Given the description of an element on the screen output the (x, y) to click on. 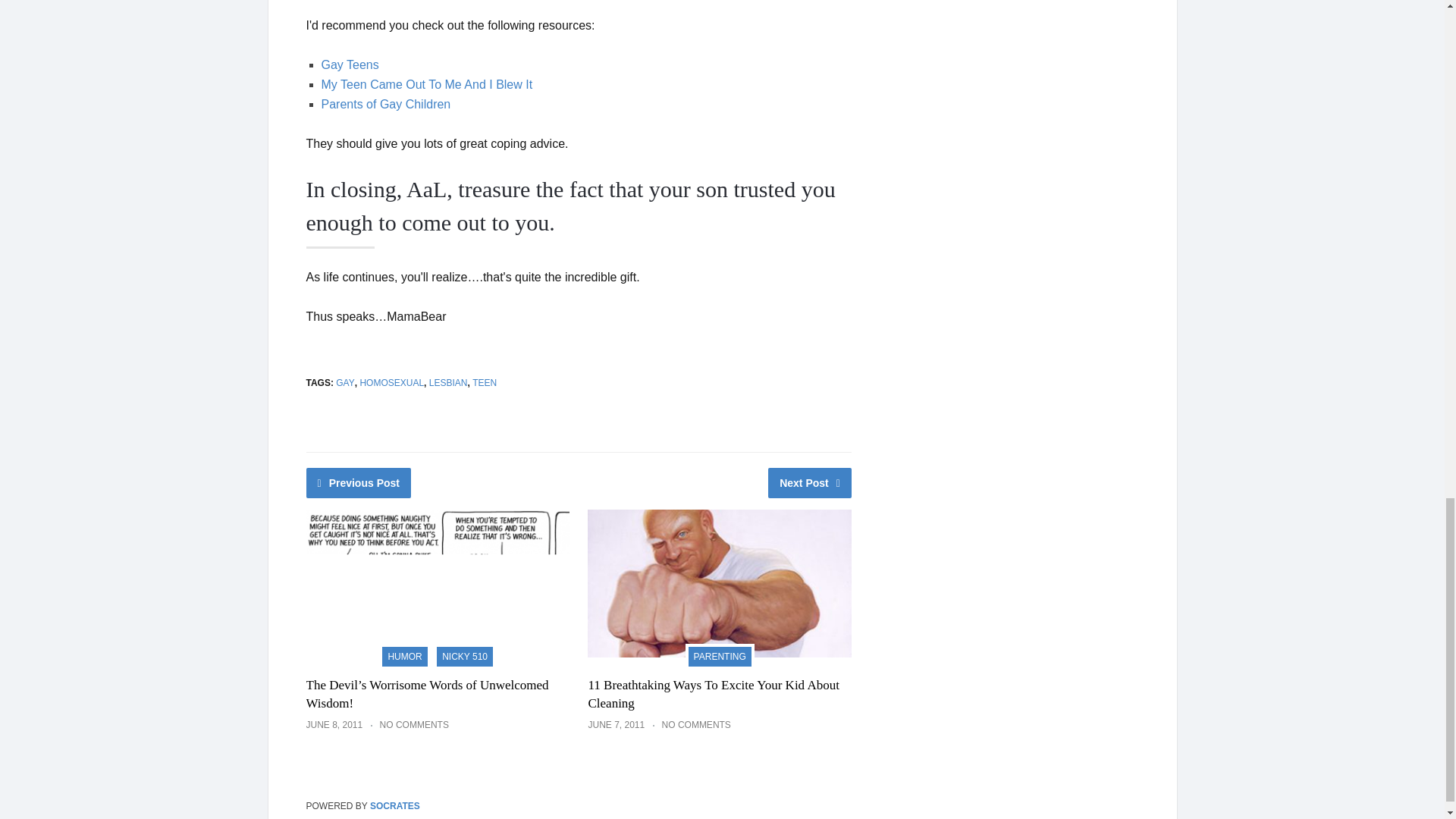
TEEN (483, 382)
11 Breathtaking Ways To Excite Your Kid About Cleaning (713, 694)
Previous Post (358, 482)
HOMOSEXUAL (391, 382)
HUMOR (403, 654)
PARENTING (719, 654)
My Teen Came Out To Me And I Blew It (426, 83)
LESBIAN (448, 382)
GAY (344, 382)
SOCRATES (394, 805)
